Given the description of an element on the screen output the (x, y) to click on. 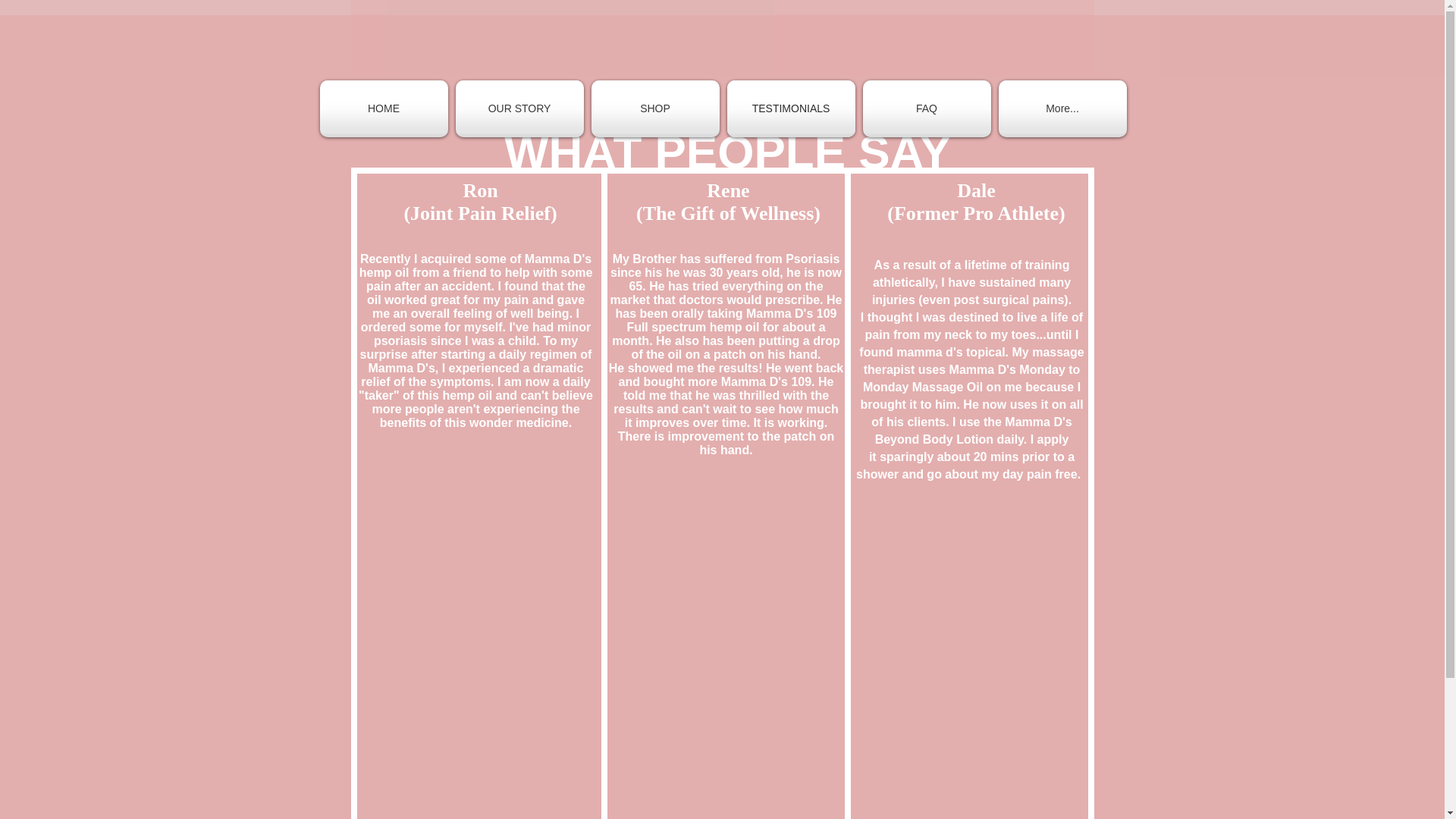
TESTIMONIALS (791, 108)
HOME (383, 108)
FAQ (926, 108)
OUR STORY (519, 108)
SHOP (654, 108)
